Given the description of an element on the screen output the (x, y) to click on. 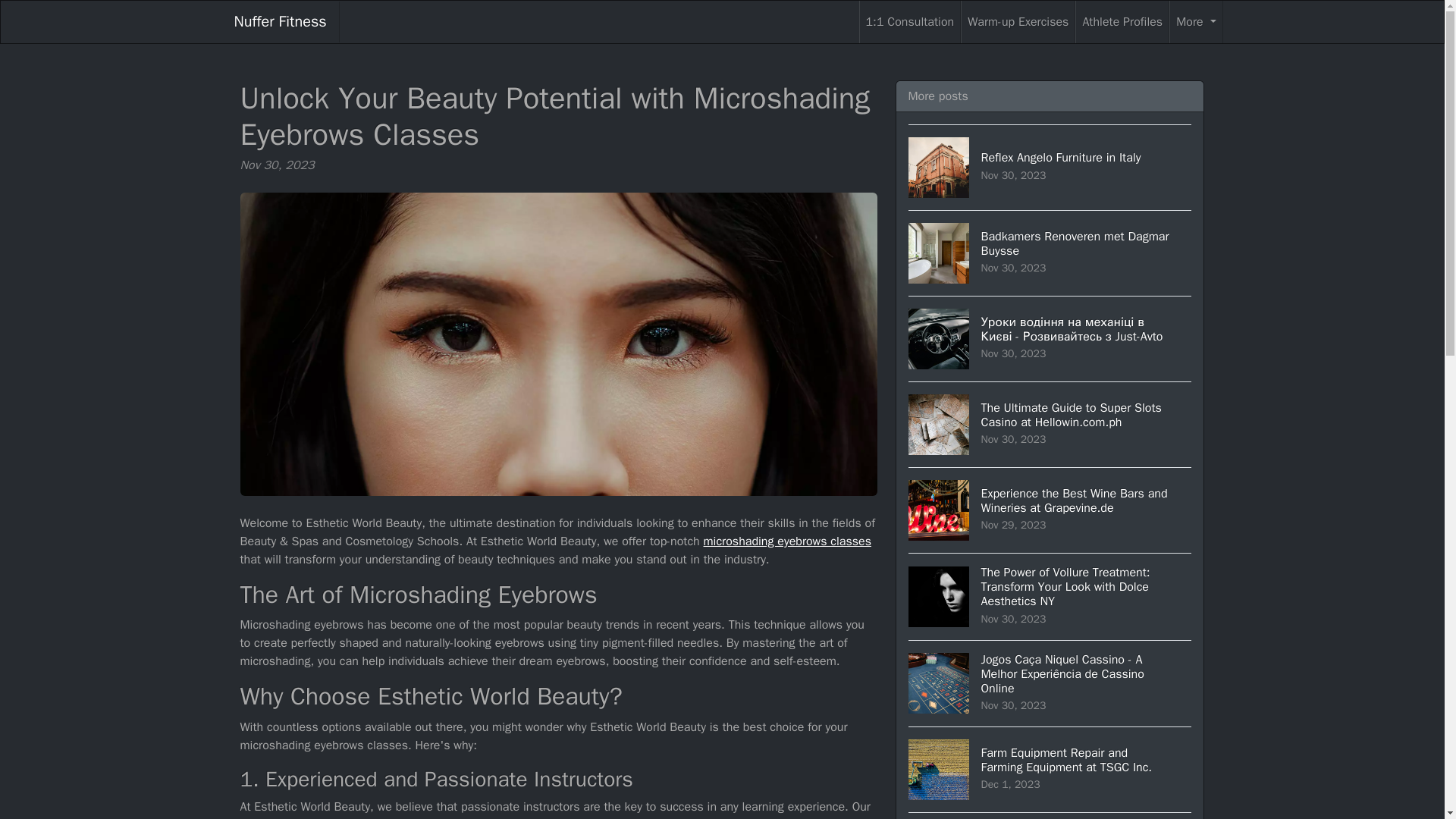
Warm-up Exercises (1017, 21)
More (1196, 21)
1:1 Consultation (1050, 252)
Athlete Profiles (909, 21)
